Given the description of an element on the screen output the (x, y) to click on. 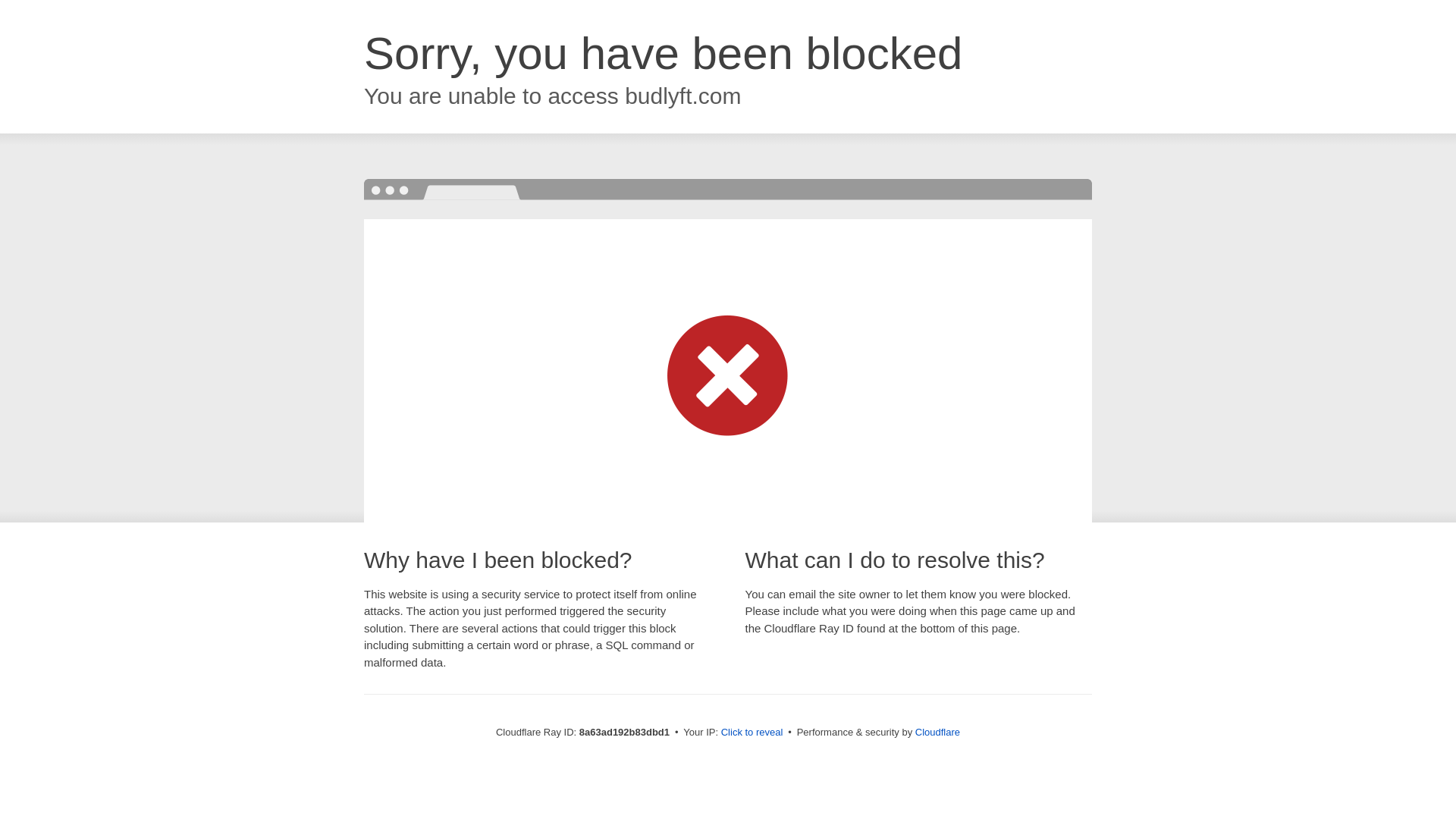
Click to reveal (751, 732)
Cloudflare (937, 731)
